Given the description of an element on the screen output the (x, y) to click on. 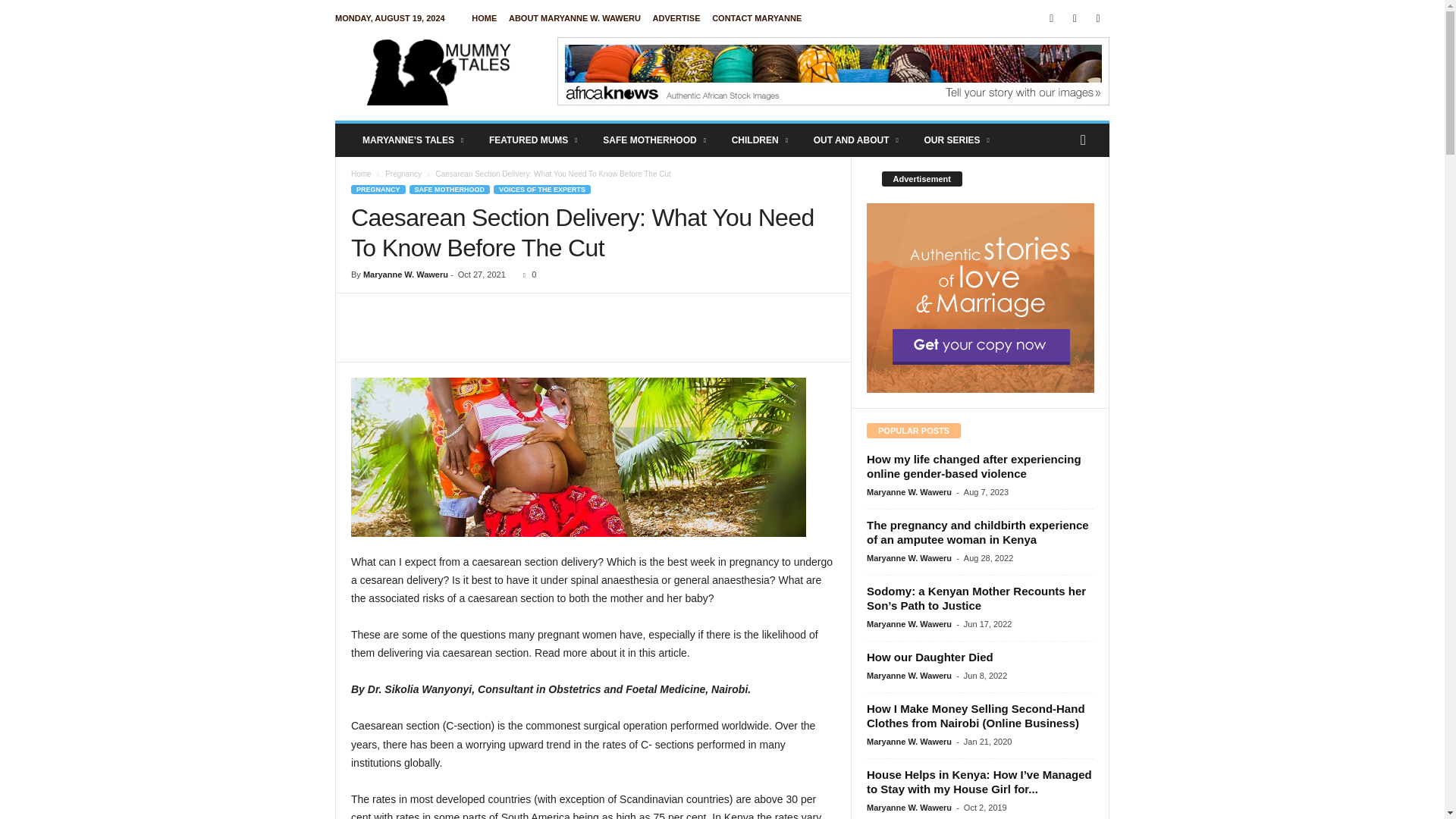
Talk To Me (756, 17)
CONTACT MARYANNE (756, 17)
ADVERTISE (676, 17)
HOME (483, 17)
ABOUT MARYANNE W. WAWERU (574, 17)
